Given the description of an element on the screen output the (x, y) to click on. 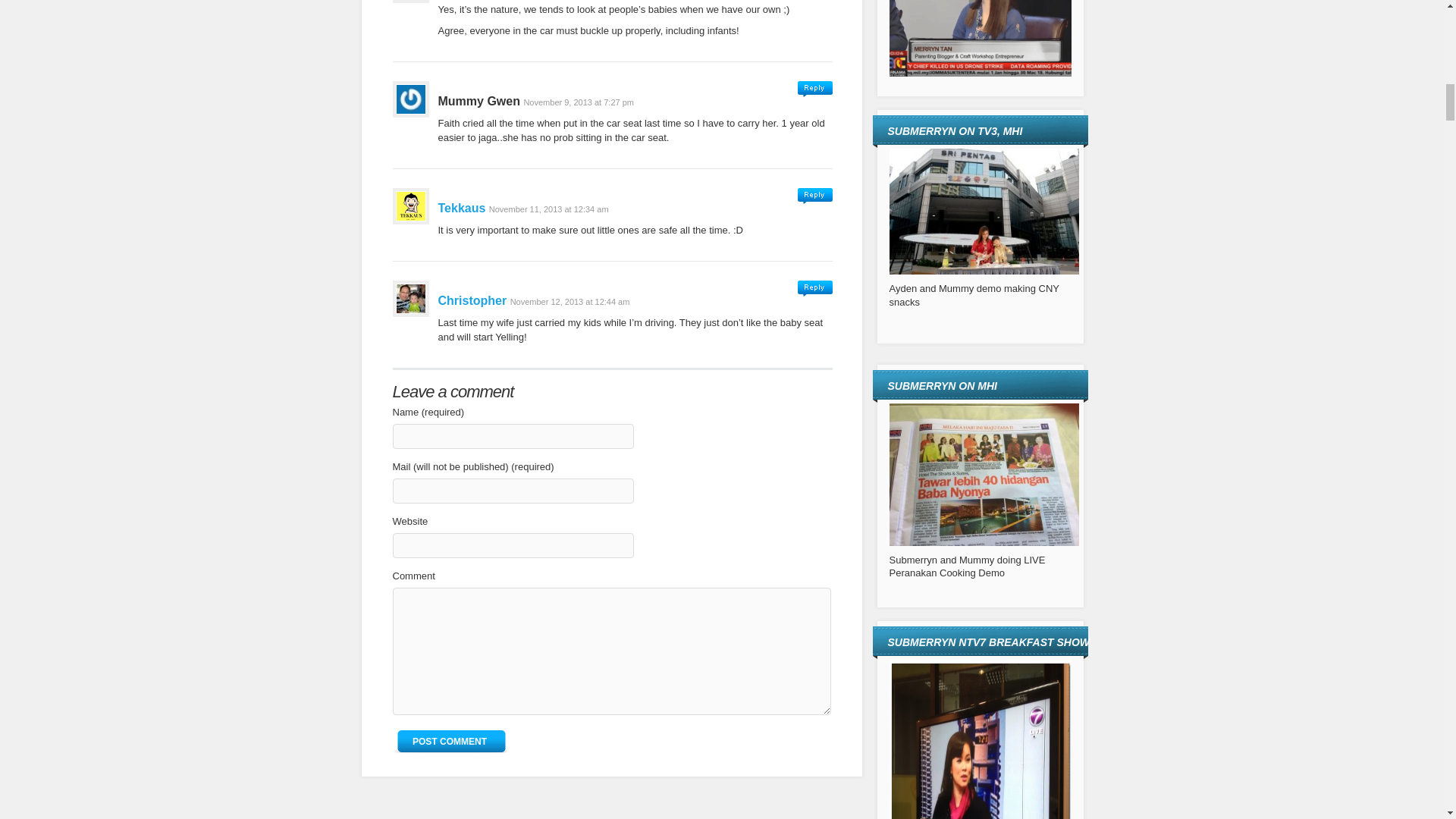
POST COMMENT (449, 741)
